Given the description of an element on the screen output the (x, y) to click on. 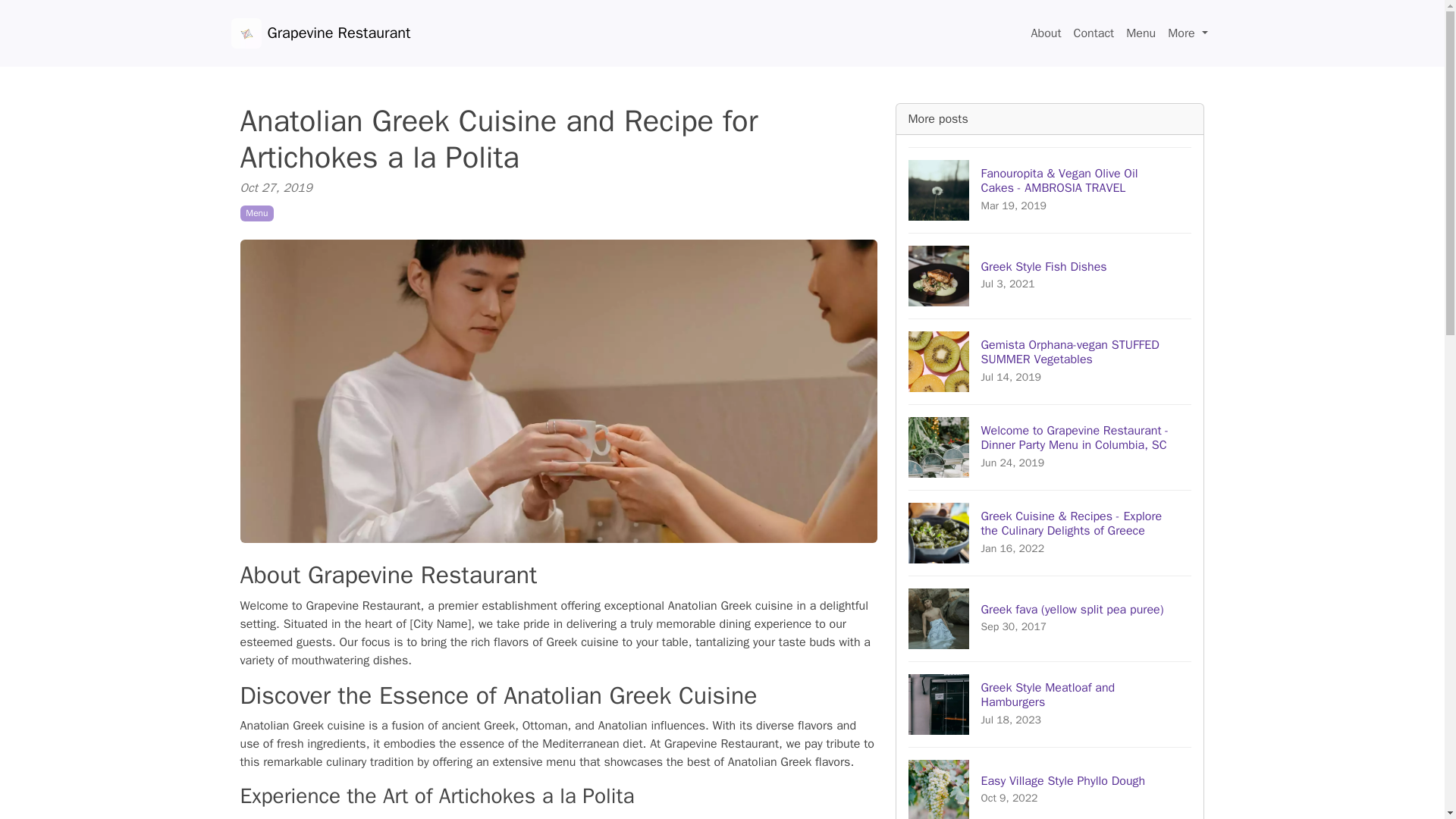
About (1046, 33)
Menu (1050, 782)
Menu (1140, 33)
More (1050, 703)
Contact (256, 212)
Grapevine Restaurant (1186, 33)
